Given the description of an element on the screen output the (x, y) to click on. 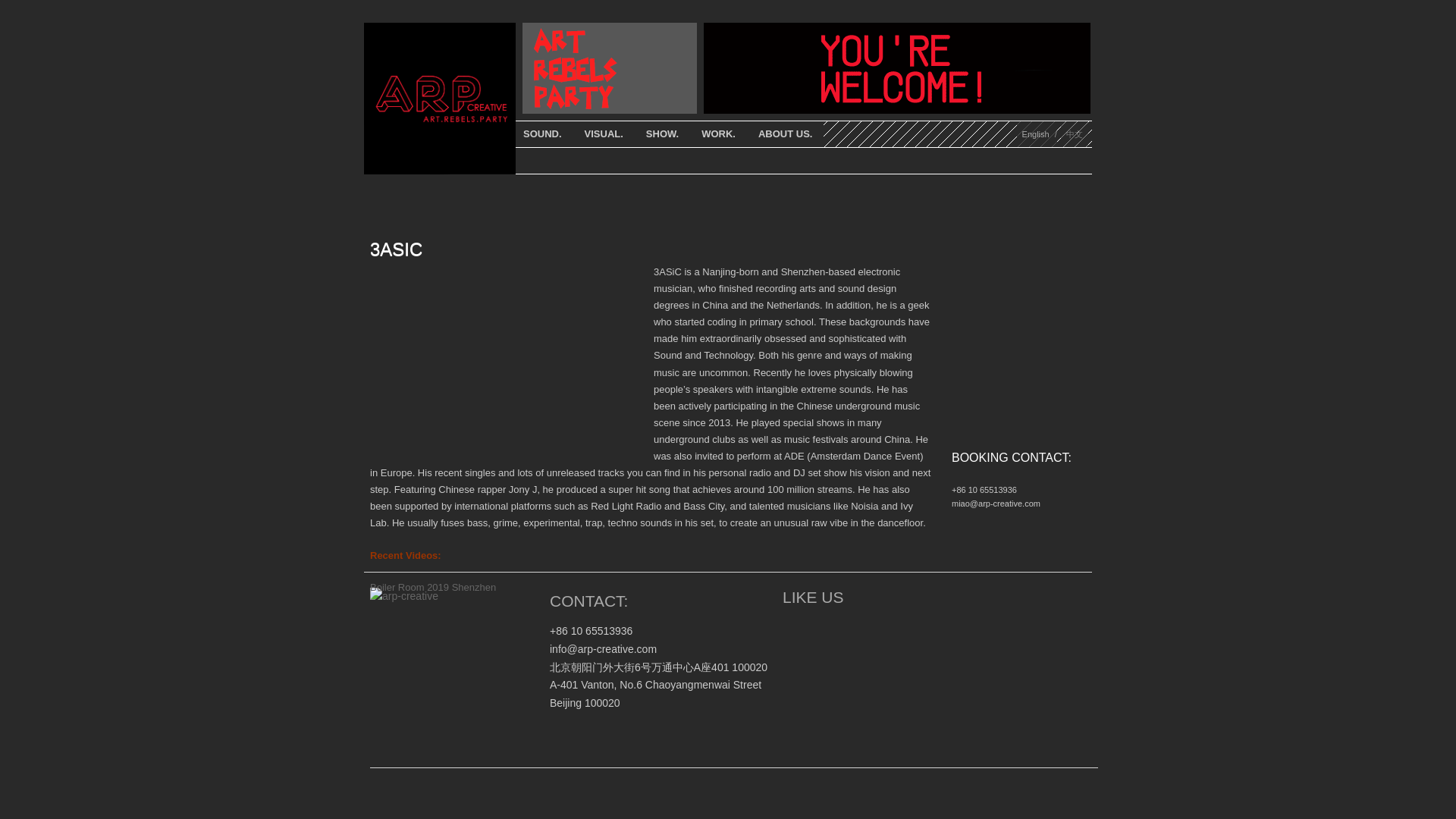
Douban (854, 623)
Boiler Room 2019 Shenzhen (432, 586)
ABOUT US. (785, 133)
English (1035, 133)
WORK. (718, 133)
Facebook (813, 623)
SHOW. (662, 133)
VISUAL. (603, 133)
Miaowong (793, 623)
arp-creative (439, 170)
